Given the description of an element on the screen output the (x, y) to click on. 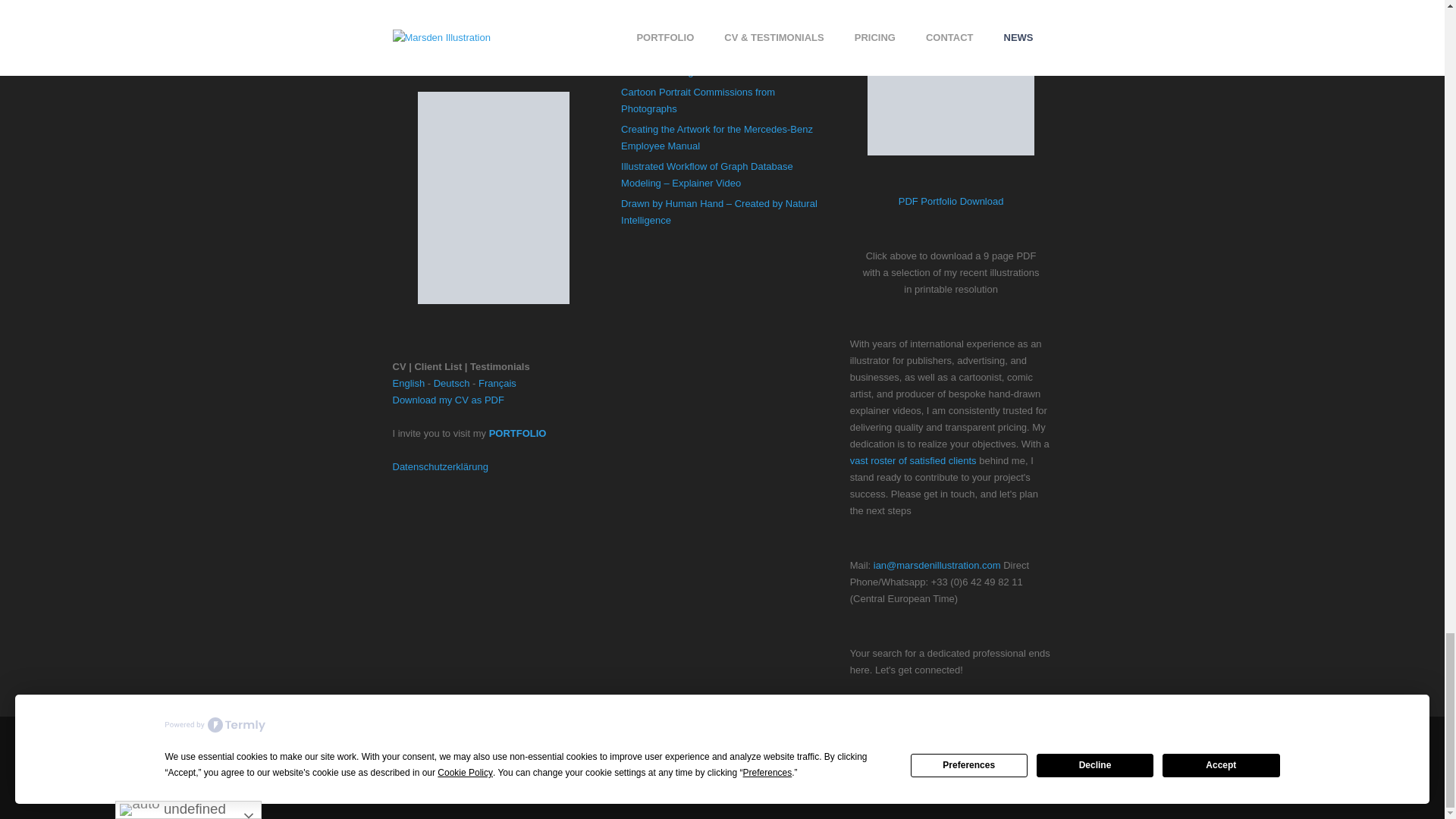
Pinterest (904, 739)
Instagram (682, 739)
Behance (830, 739)
YouTube (759, 739)
LinkedIn (535, 739)
Back to top (721, 791)
Facebook (606, 739)
